Given the description of an element on the screen output the (x, y) to click on. 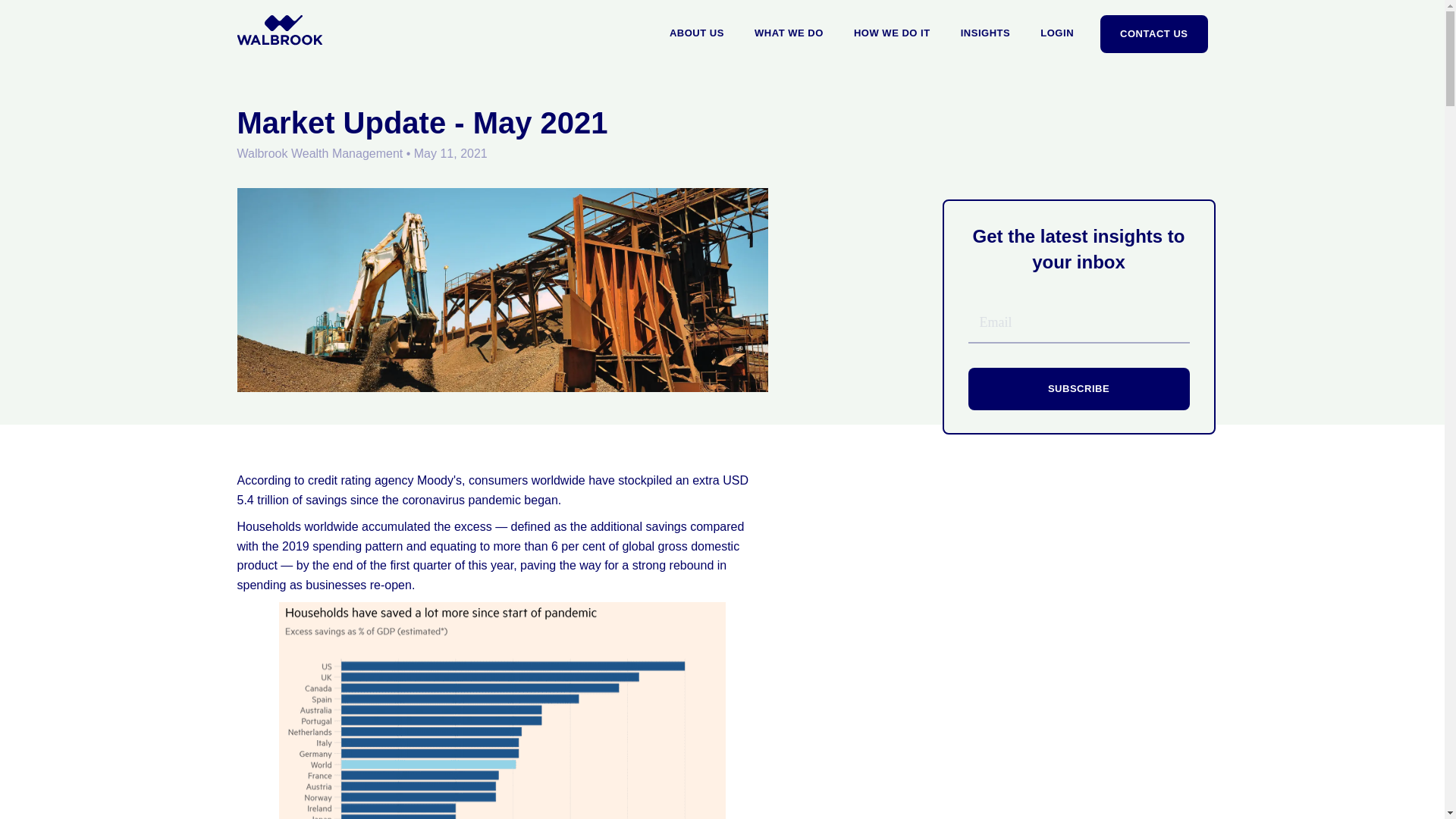
HOW WE DO IT (891, 33)
CONTACT US (1148, 32)
LOGIN (1057, 33)
SUBSCRIBE (1078, 388)
ABOUT US (696, 33)
WHAT WE DO (789, 33)
INSIGHTS (985, 33)
CONTACT US (1153, 34)
Household Savings (502, 710)
